Given the description of an element on the screen output the (x, y) to click on. 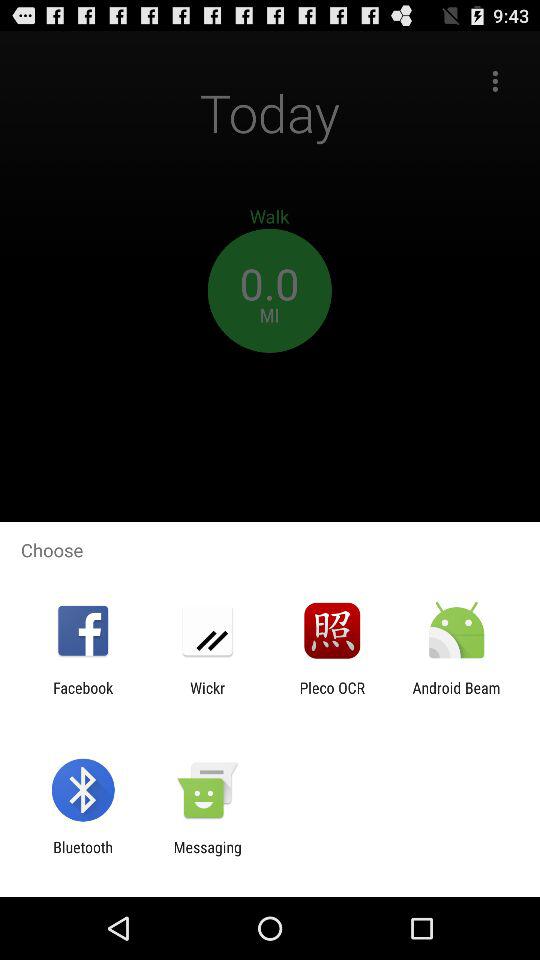
open the app next to the android beam app (331, 696)
